Given the description of an element on the screen output the (x, y) to click on. 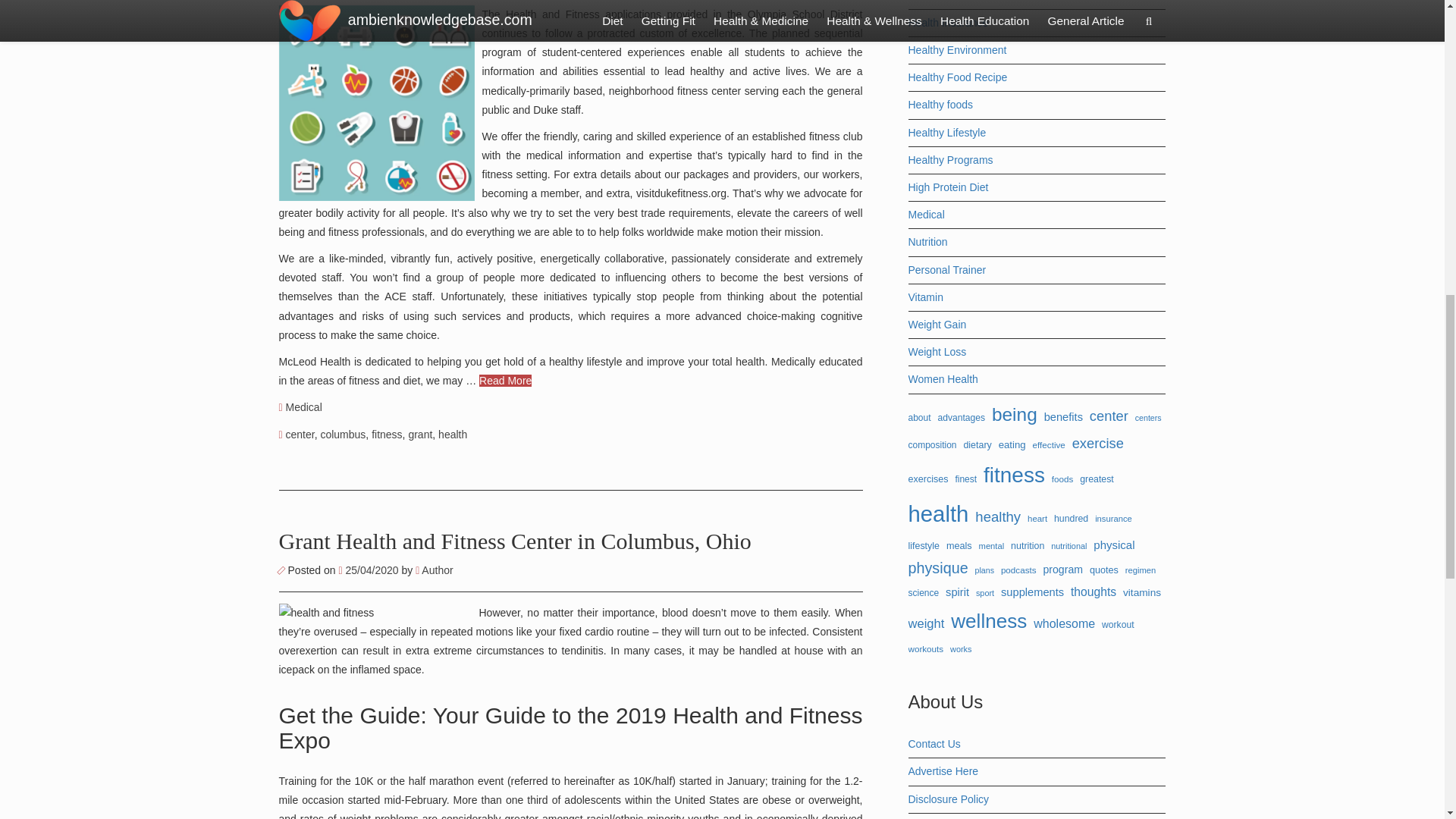
04:40 (369, 570)
